Given the description of an element on the screen output the (x, y) to click on. 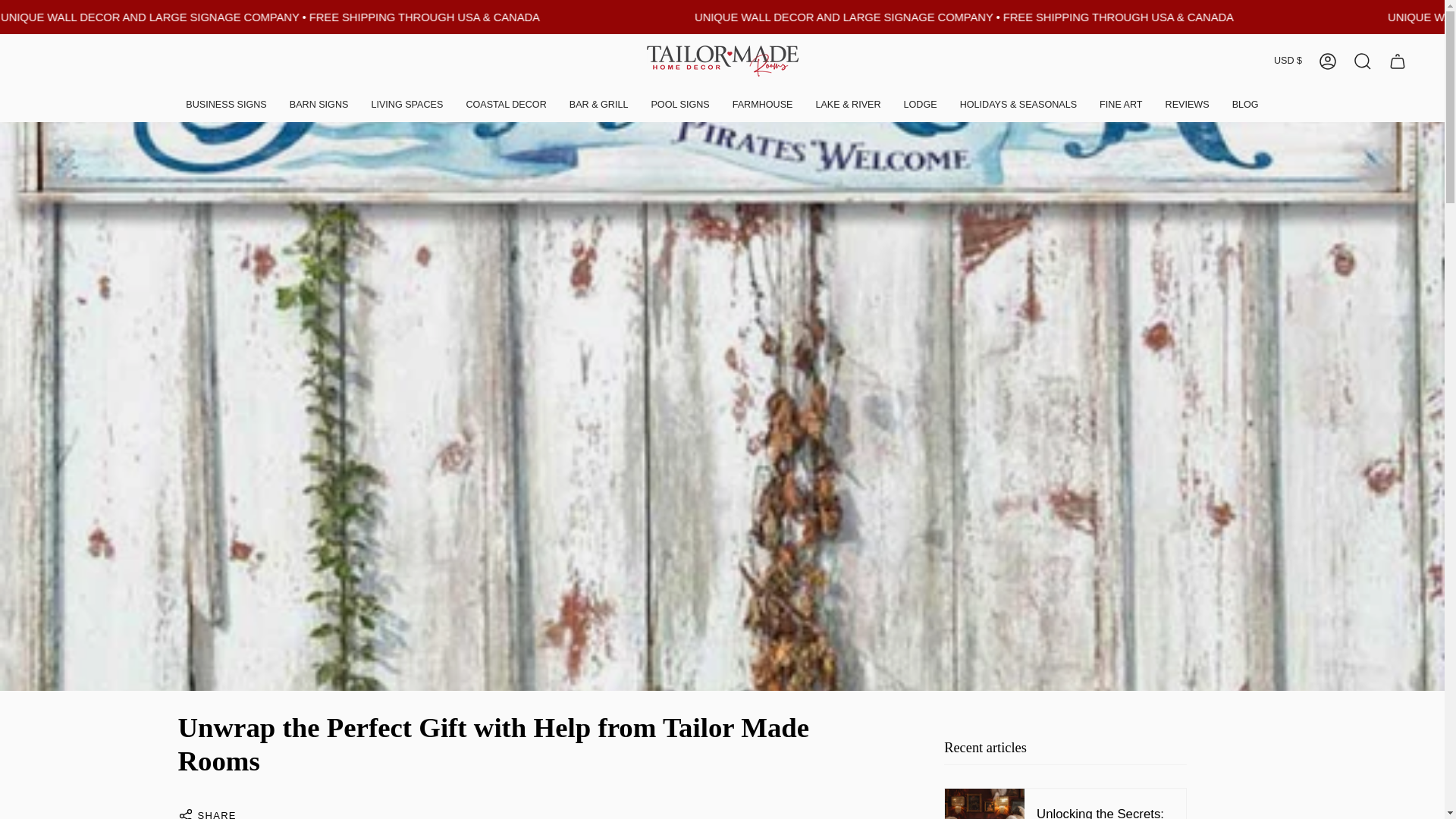
BUSINESS SIGNS (226, 104)
BARN SIGNS (318, 104)
LIVING SPACES (406, 104)
